Given the description of an element on the screen output the (x, y) to click on. 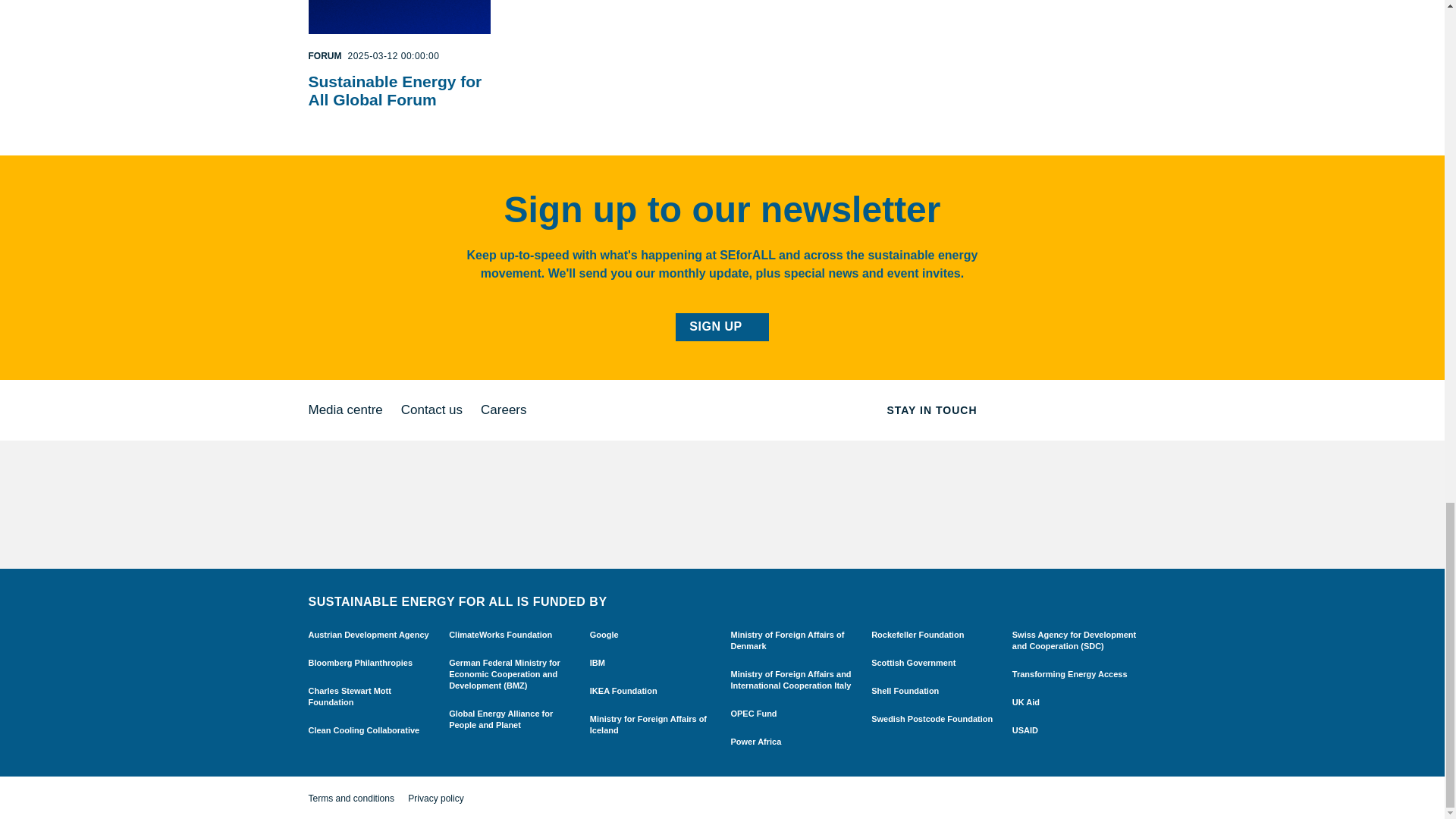
Follow our Linkedin page (1056, 410)
Sign up (721, 326)
Follow us on Twitter (996, 410)
Return to the homepage (352, 504)
Follow us on Instagram (1087, 410)
Follow our YouTube channel (1117, 410)
Follow our Facebook page (1026, 410)
